Given the description of an element on the screen output the (x, y) to click on. 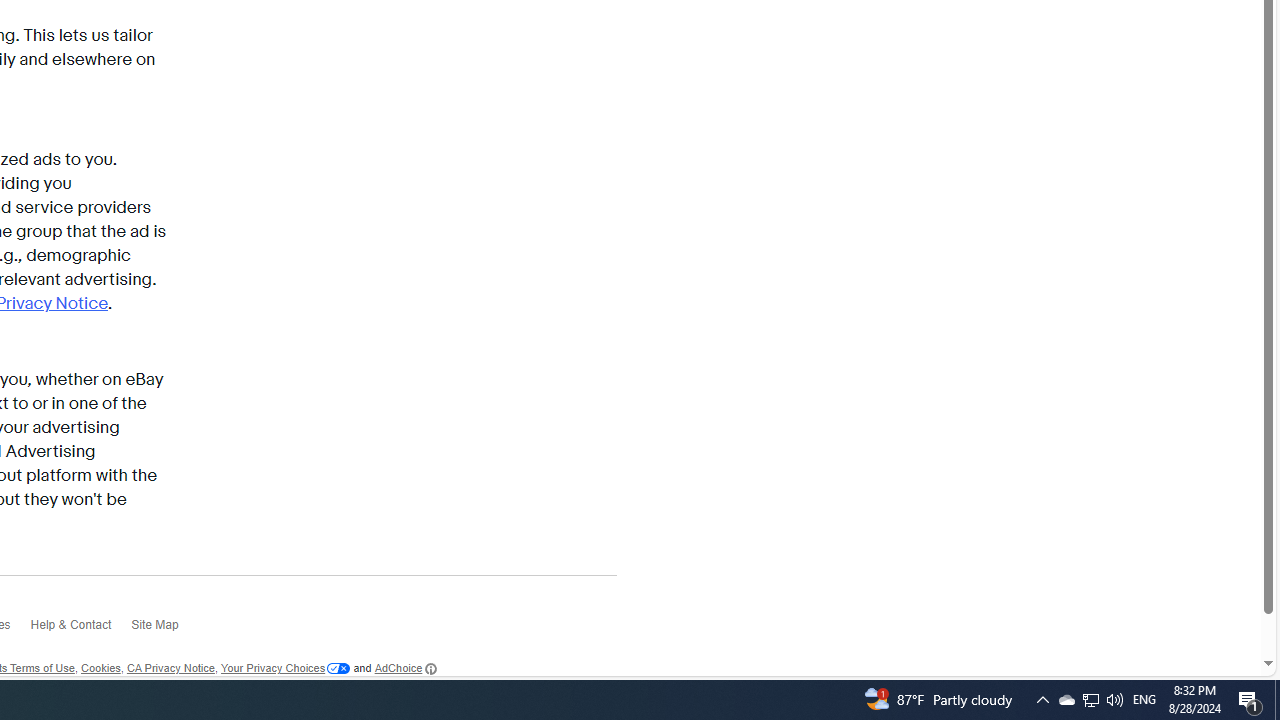
AdChoice (405, 668)
Cookies (100, 669)
Site Map (164, 630)
Your Privacy Choices (285, 669)
Site Map (164, 629)
Help & Contact (80, 629)
Help & Contact (80, 630)
CA Privacy Notice (170, 669)
